Given the description of an element on the screen output the (x, y) to click on. 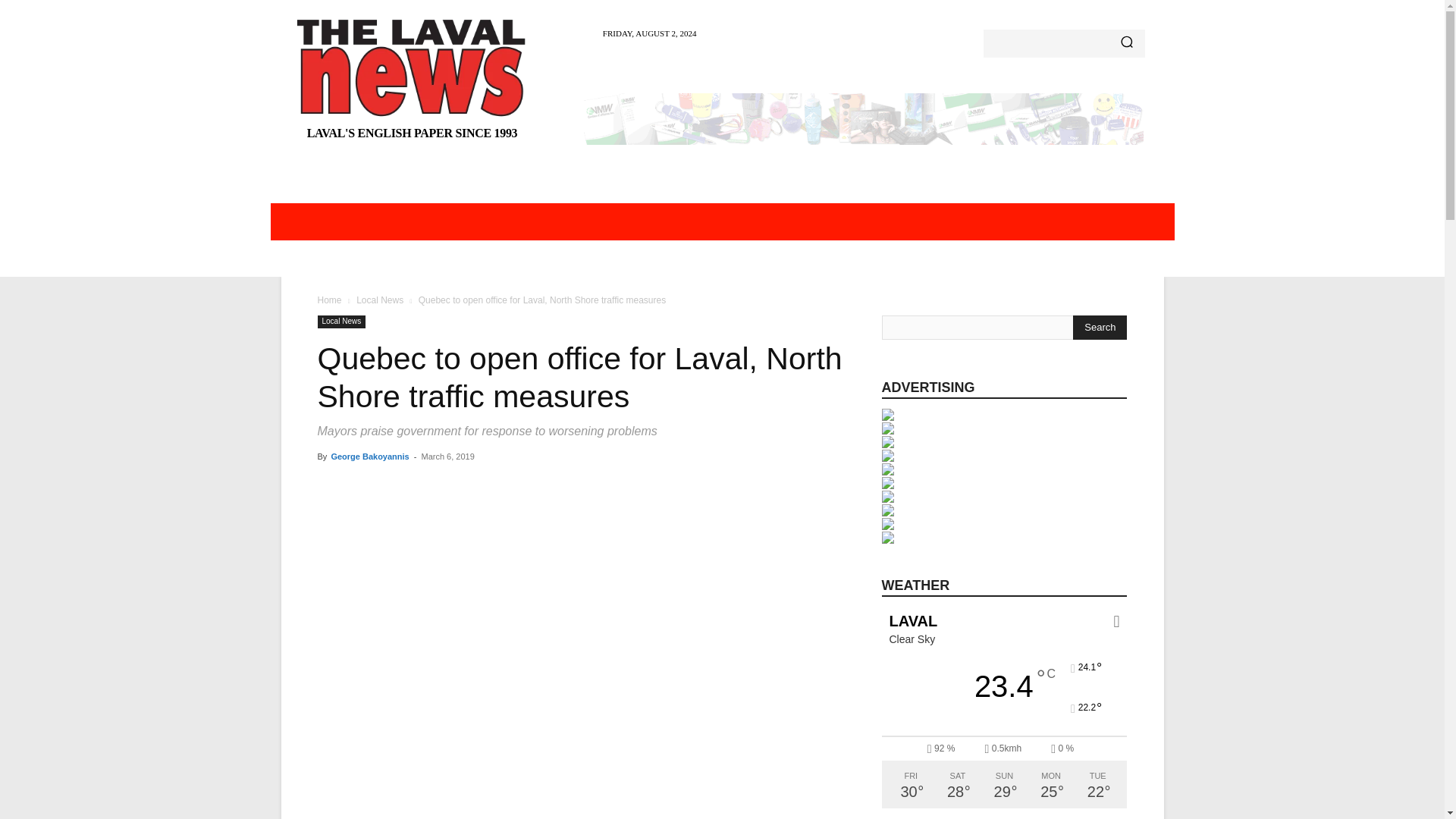
View all posts in Local News (379, 299)
Search (1099, 327)
LAVAL'S ENGLISH PAPER SINCE 1993 (412, 83)
Logo of The Laval News (412, 83)
topFacebookLike (430, 483)
Logo of The Laval News (412, 67)
